Given the description of an element on the screen output the (x, y) to click on. 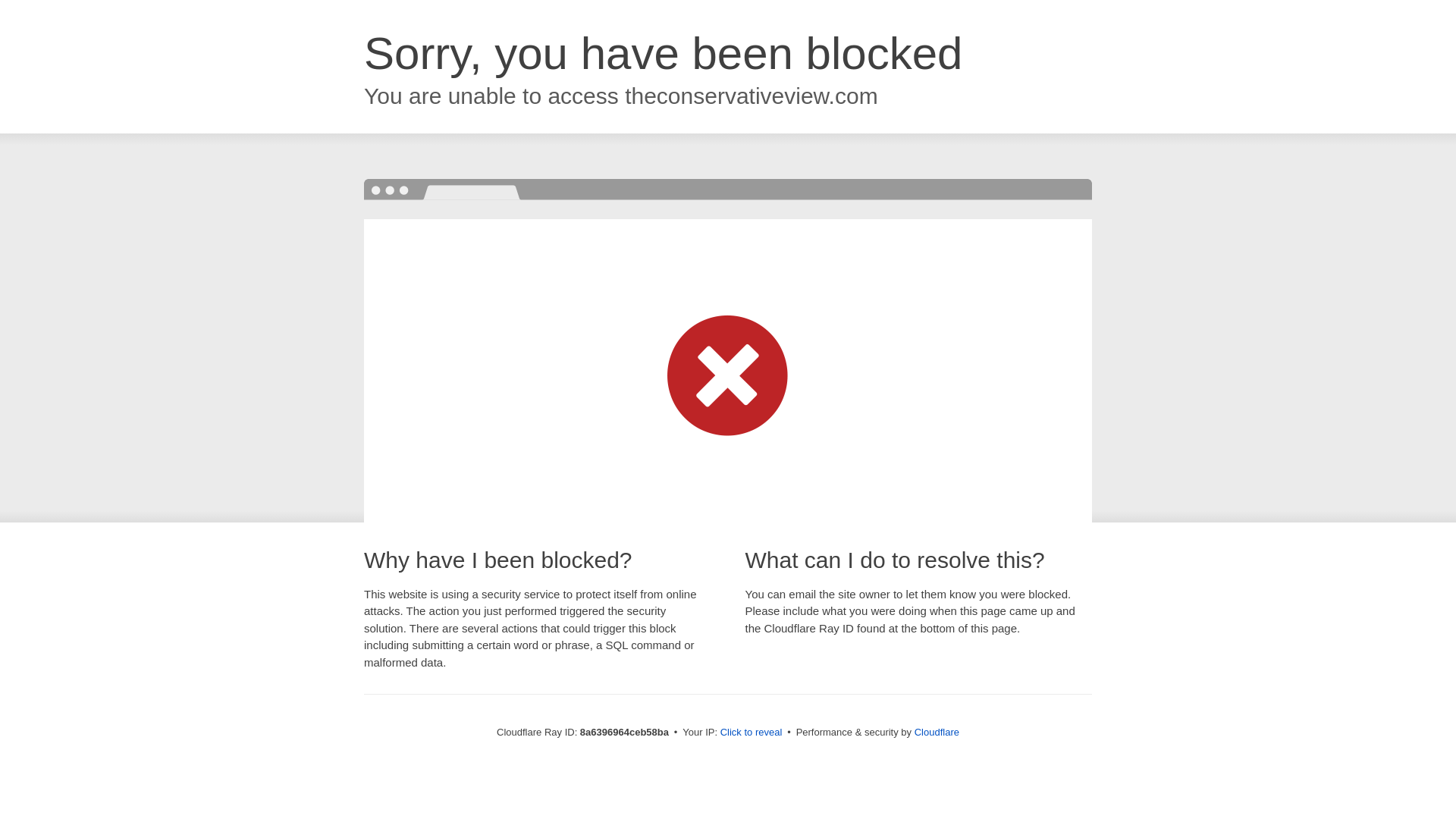
Cloudflare (936, 731)
Click to reveal (751, 732)
